Given the description of an element on the screen output the (x, y) to click on. 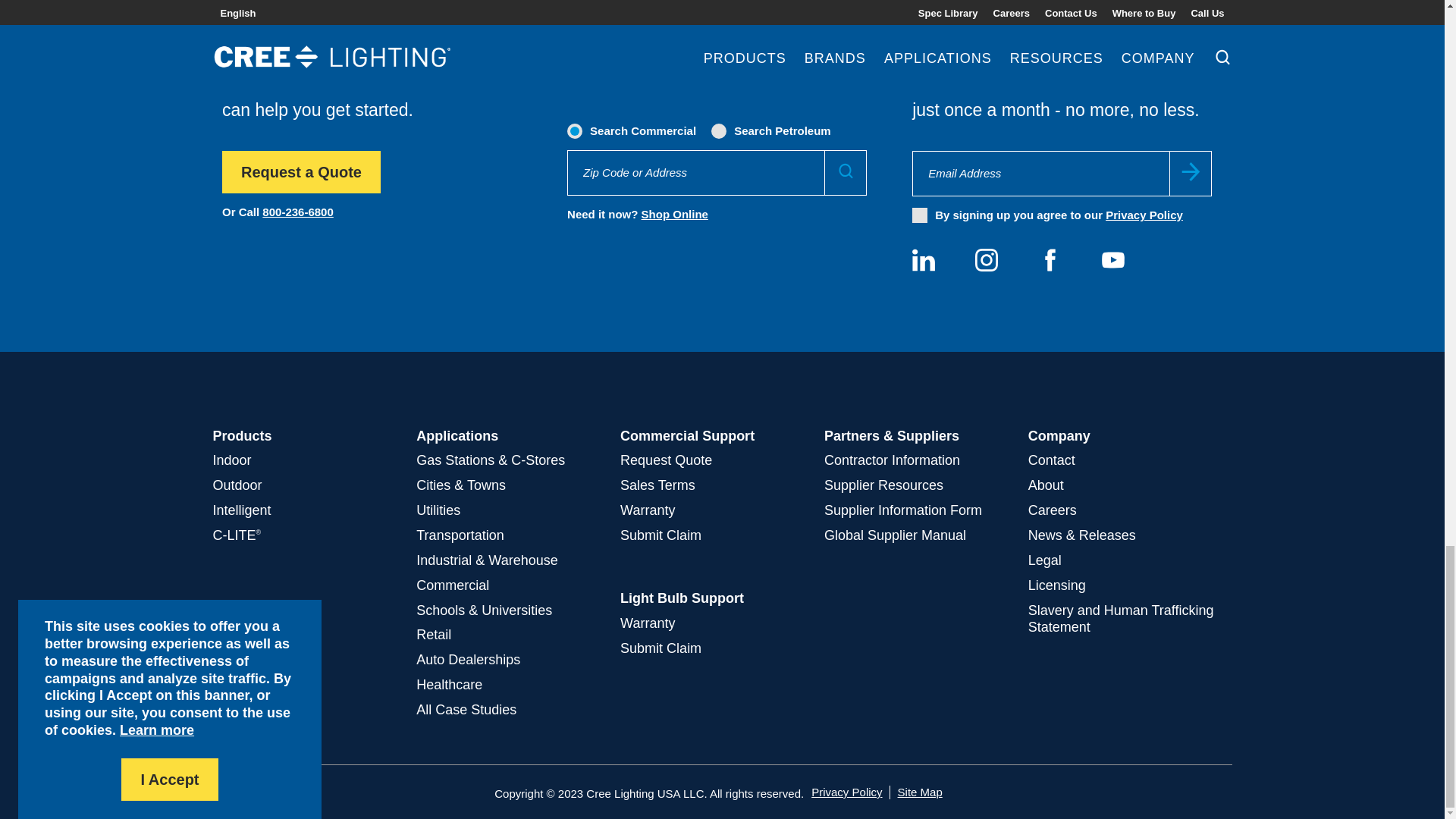
privacy (919, 214)
petroleum (719, 130)
commercial (575, 130)
